Given the description of an element on the screen output the (x, y) to click on. 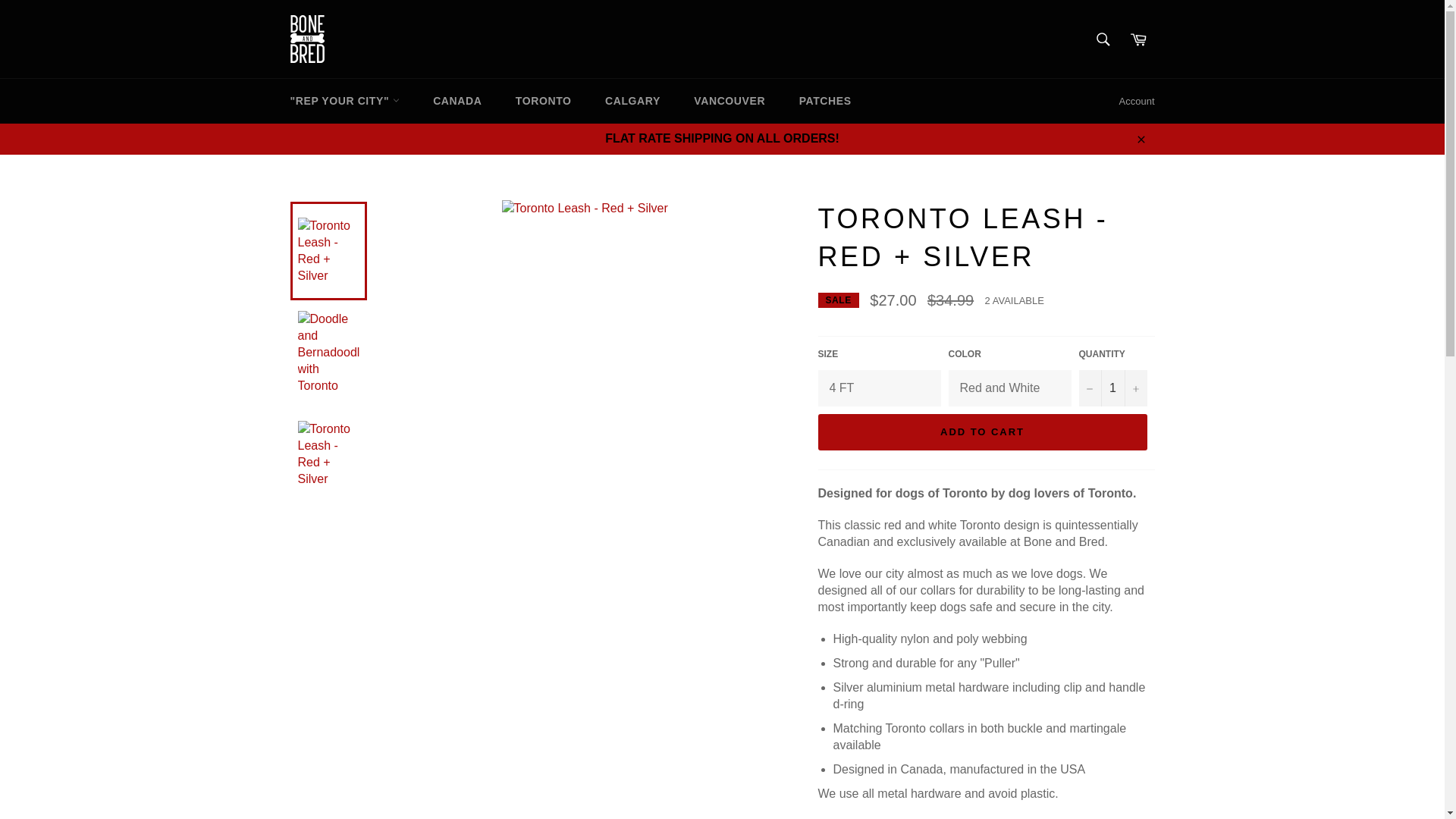
CANADA (456, 100)
Cart (1138, 38)
Close (1139, 138)
"REP YOUR CITY" (344, 100)
Account (1136, 101)
CALGARY (632, 100)
PATCHES (825, 100)
TORONTO (543, 100)
VANCOUVER (729, 100)
1 (1112, 388)
